Given the description of an element on the screen output the (x, y) to click on. 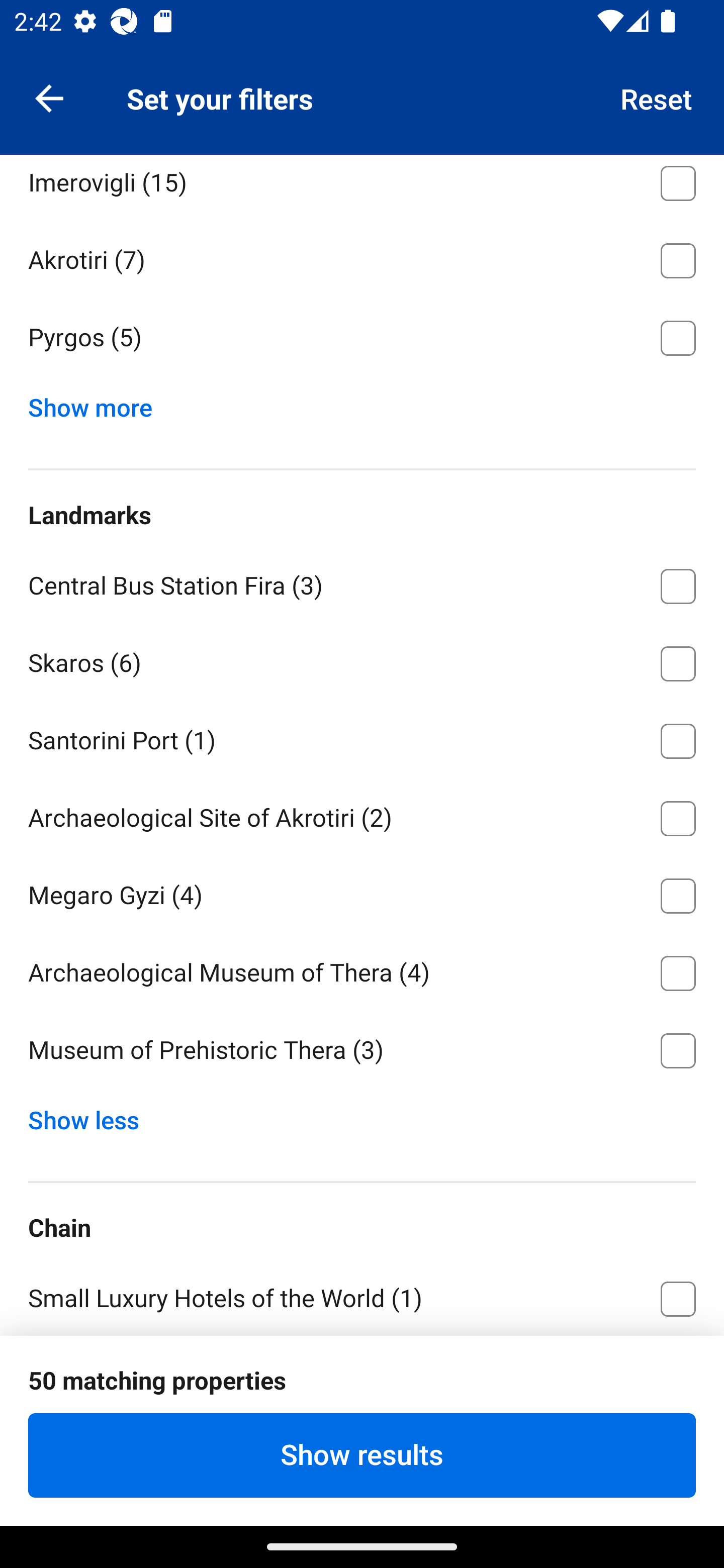
Navigate up (49, 97)
Reset (656, 97)
Oia ⁦(11) (361, 102)
Imerovigli ⁦(15) (361, 186)
Akrotiri ⁦(7) (361, 256)
Pyrgos ⁦(5) (361, 338)
Show more (97, 403)
Central Bus Station Fira ⁦(3) (361, 582)
Skaros ⁦(6) (361, 659)
Santorini Port ⁦(1) (361, 737)
Archaeological Site of Akrotiri ⁦(2) (361, 815)
Megaro Gyzi ⁦(4) (361, 892)
Archaeological Museum of Thera ⁦(4) (361, 969)
Museum of Prehistoric Thera ⁦(3) (361, 1050)
Show less (90, 1115)
Small Luxury Hotels of the World ⁦(1) (361, 1296)
Show results (361, 1454)
